Given the description of an element on the screen output the (x, y) to click on. 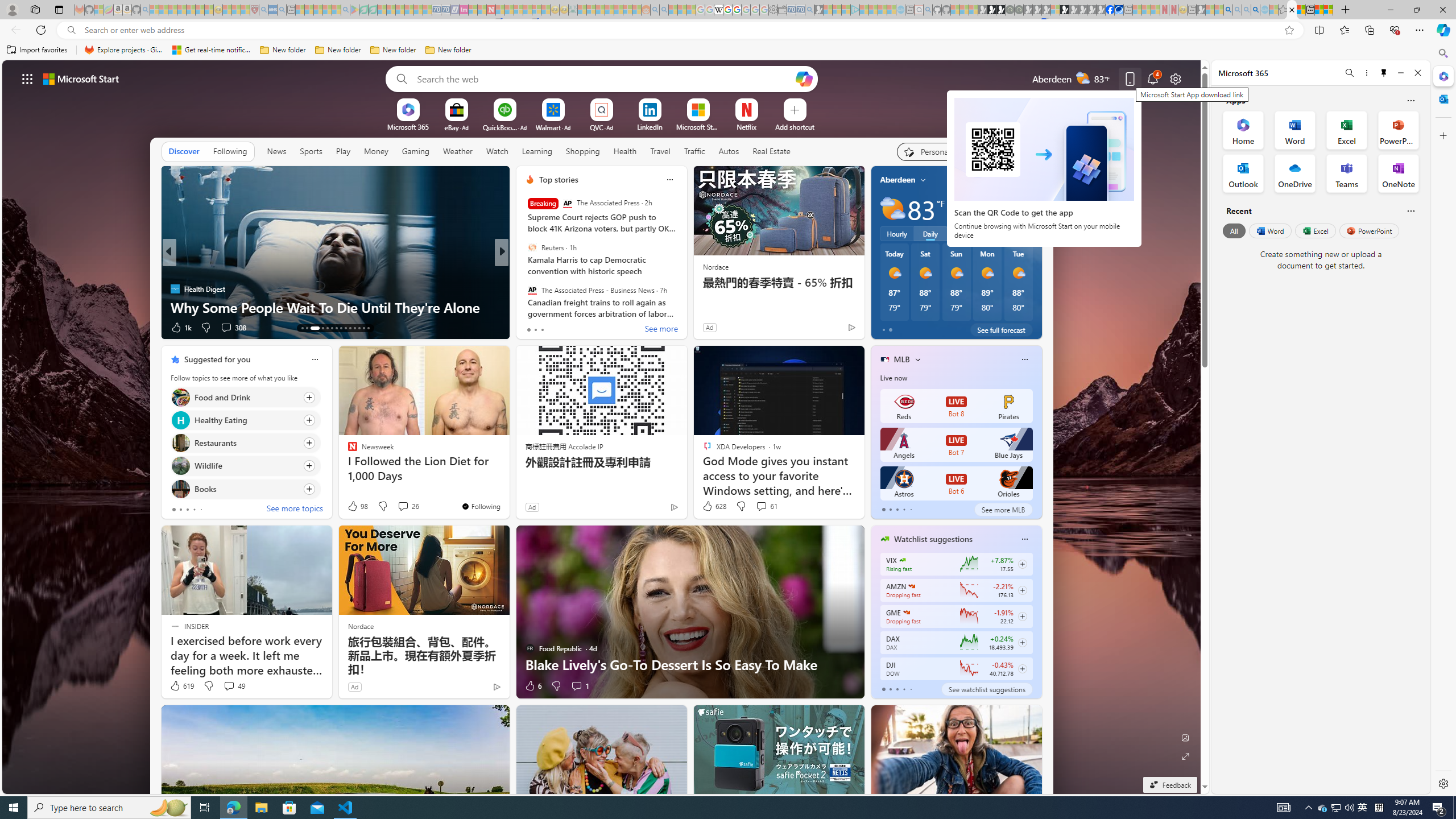
View comments 6 Comment (576, 327)
Autos (729, 151)
previous (876, 252)
INSIDER (524, 270)
You're following Newsweek (480, 505)
Teams Office App (1346, 172)
tab-4 (910, 689)
tab-1 (889, 689)
